Given the description of an element on the screen output the (x, y) to click on. 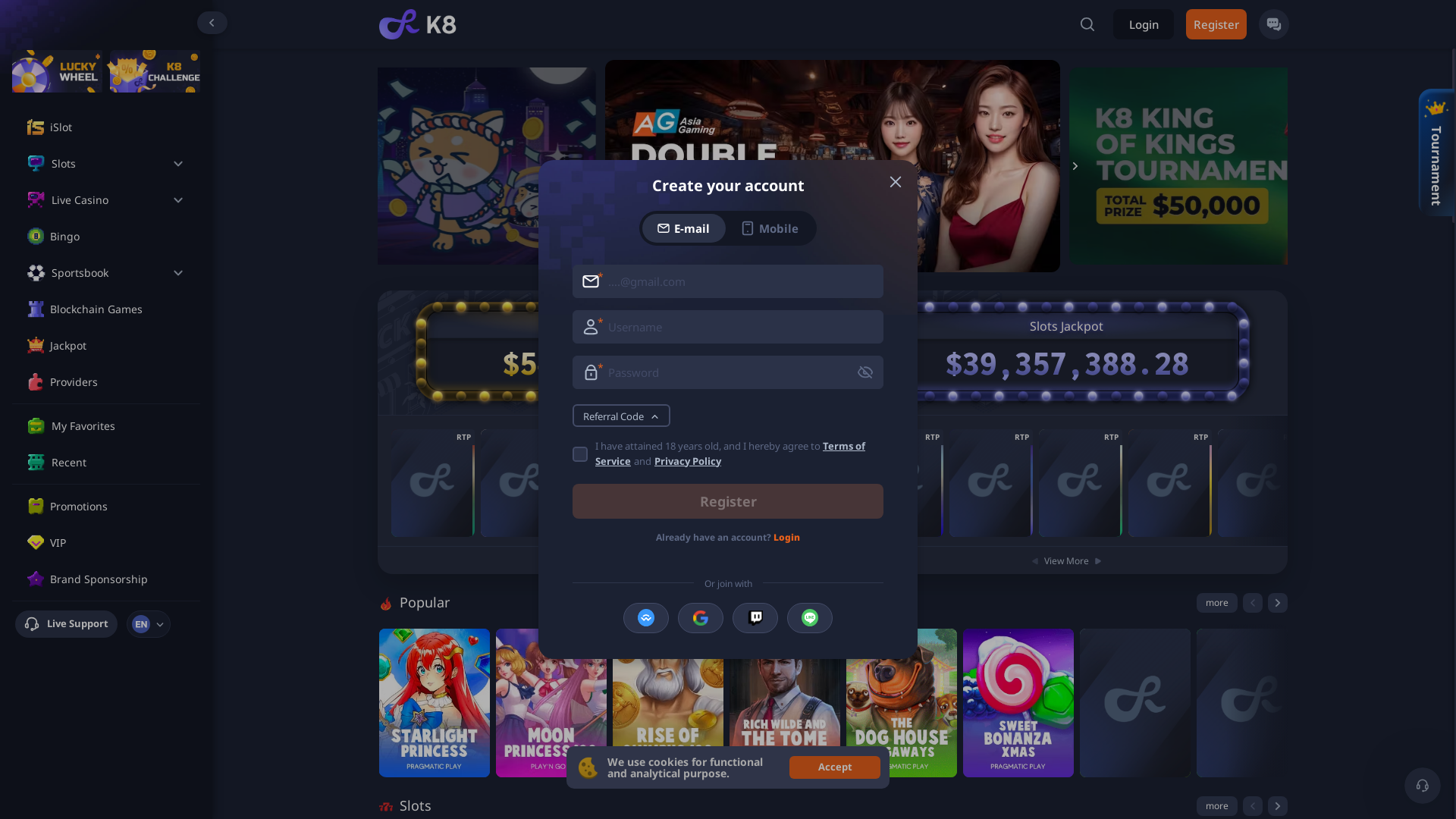
VIP Element type: text (117, 542)
previous Element type: hover (1251, 805)
Moon Princess 100 Element type: hover (550, 702)
more Element type: text (1216, 805)
8 Balls of Fire Element type: hover (1259, 482)
The Dog House Megaways Element type: hover (901, 702)
Baccarat Element type: hover (522, 482)
Sherwood Coins: Hold and Win Element type: hover (1080, 482)
Allstar 7s Hold and Win Element type: hover (990, 482)
Rich Wilde and the Tome of Madness Element type: hover (784, 702)
next Element type: hover (1277, 602)
Jackpot Element type: text (117, 345)
Brand Sponsorship Element type: text (117, 579)
Starlight Princess Element type: hover (434, 702)
Rise of Olympus 100 Element type: hover (667, 702)
Providers Element type: text (117, 382)
Register Element type: text (1216, 24)
Drop'EM Element type: hover (1134, 702)
next Element type: hover (1277, 805)
previous Element type: hover (1251, 602)
Mobile Element type: text (769, 227)
VIP Baccarat Element type: hover (432, 482)
Blockchain Games Element type: text (117, 309)
Register Element type: text (727, 500)
African Spirit Sticky Wilds Element type: hover (1169, 482)
Sweet Bonanza Xmas Element type: hover (1018, 702)
iSlot Element type: text (117, 127)
Bingo Element type: text (117, 236)
Login Element type: text (1143, 24)
E-mail Element type: text (683, 227)
Accept Element type: text (834, 767)
xWays Hoarder xSplit DX1 Element type: hover (1251, 702)
Crystal Scarabs Element type: hover (901, 482)
more Element type: text (1216, 602)
Promotions Element type: text (117, 506)
